Given the description of an element on the screen output the (x, y) to click on. 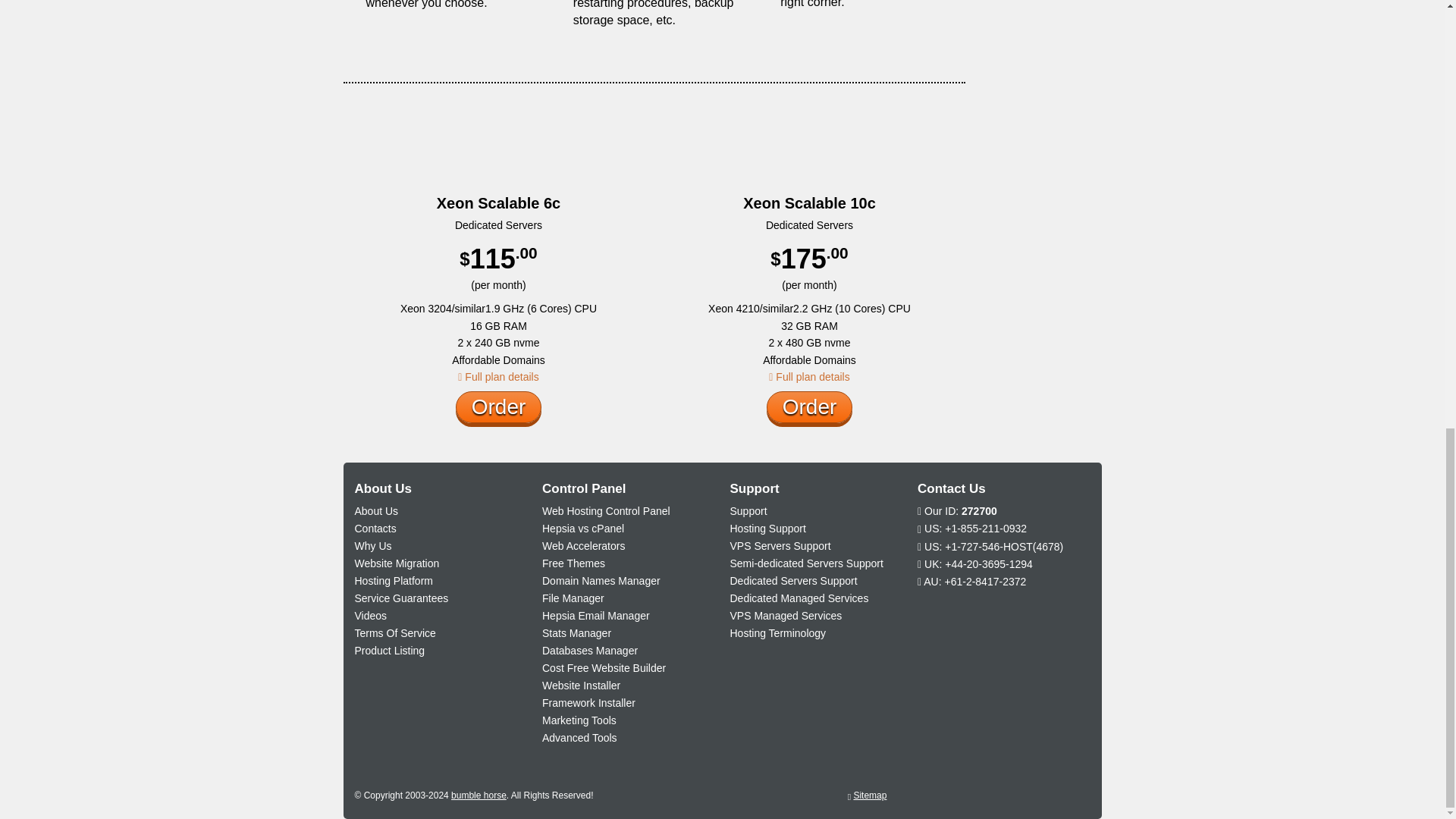
Xeon Scalable 6c Shared Hosting Plan Details (498, 377)
Full plan details (498, 377)
Xeon Scalable 10c Shared Hosting Plan Details (808, 377)
Order (498, 407)
Xeon Scalable 6c (498, 200)
